Given the description of an element on the screen output the (x, y) to click on. 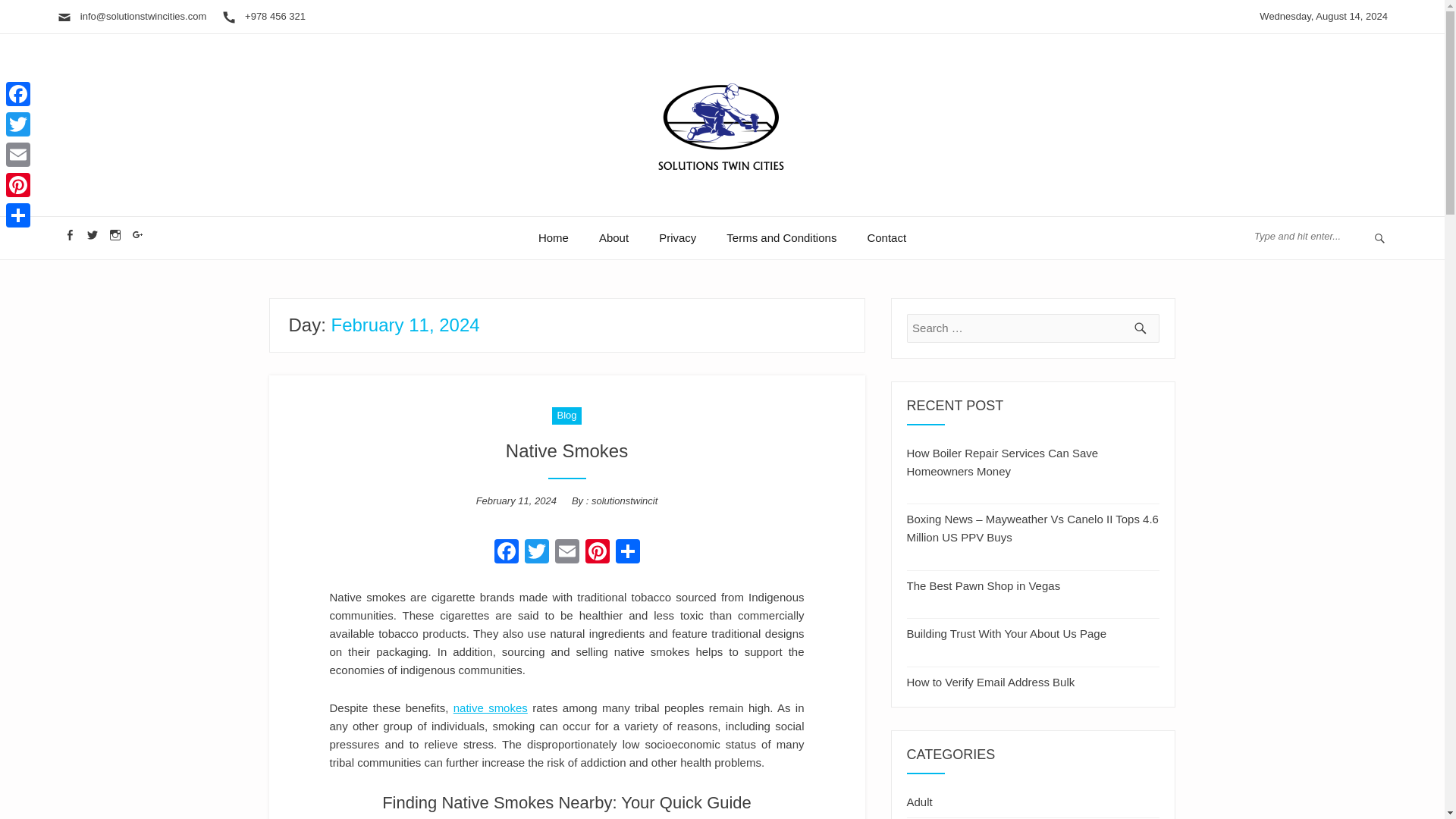
Twitter (536, 552)
Email (17, 154)
Blog (565, 416)
How to Verify Email Address Bulk (991, 679)
Facebook (17, 93)
About (613, 238)
Native Smokes (566, 450)
Search (35, 14)
Facebook (506, 552)
Home (552, 238)
